Given the description of an element on the screen output the (x, y) to click on. 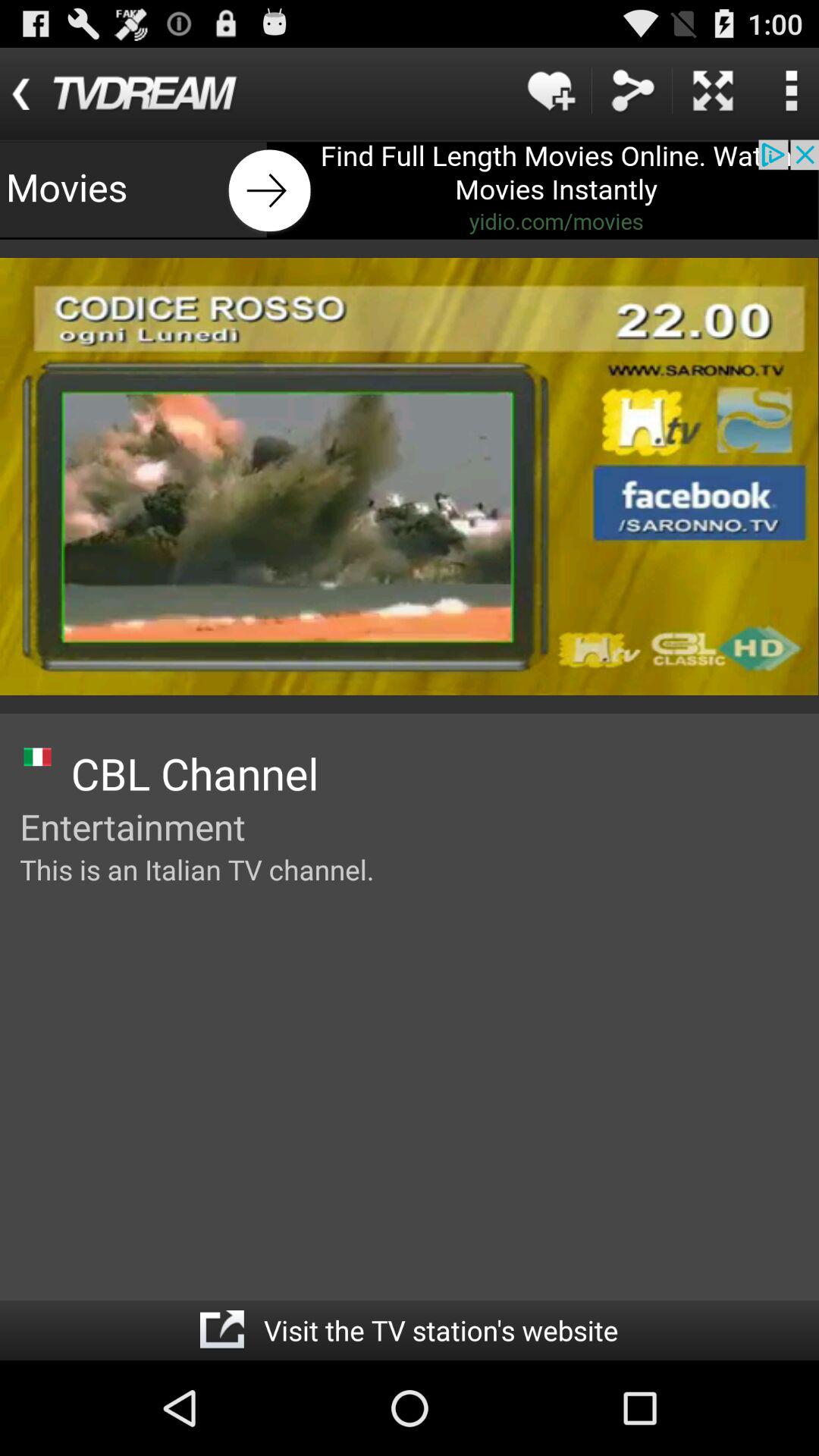
share the file (632, 90)
